Given the description of an element on the screen output the (x, y) to click on. 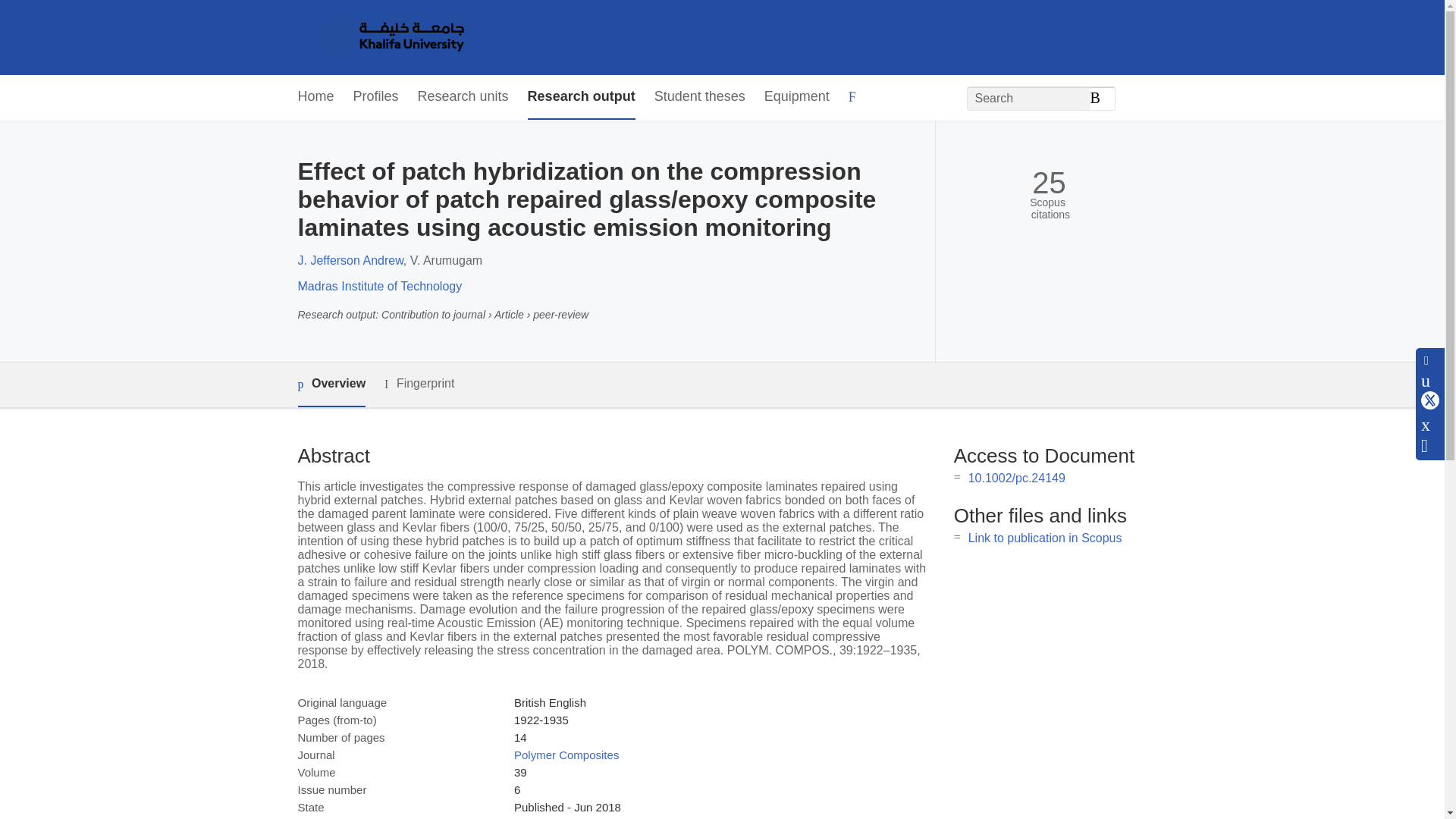
Profiles (375, 97)
Research output (580, 97)
Student theses (699, 97)
Madras Institute of Technology (379, 286)
Polymer Composites (565, 754)
Research units (462, 97)
Khalifa University Home (391, 37)
Link to publication in Scopus (1045, 537)
Equipment (796, 97)
Fingerprint (419, 383)
Overview (331, 384)
J. Jefferson Andrew (350, 259)
Home (315, 97)
